Given the description of an element on the screen output the (x, y) to click on. 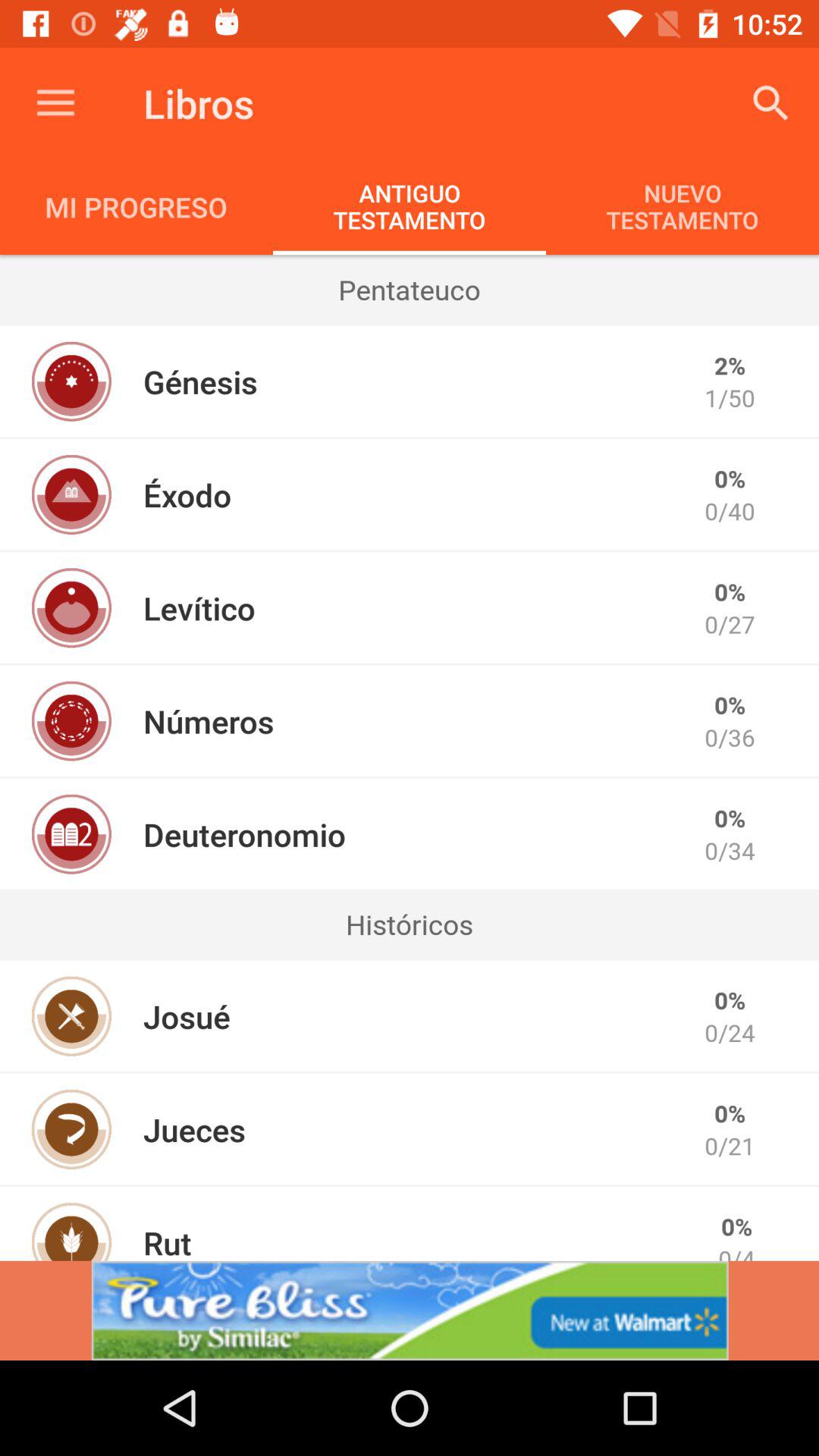
open advertisement (409, 1310)
